Given the description of an element on the screen output the (x, y) to click on. 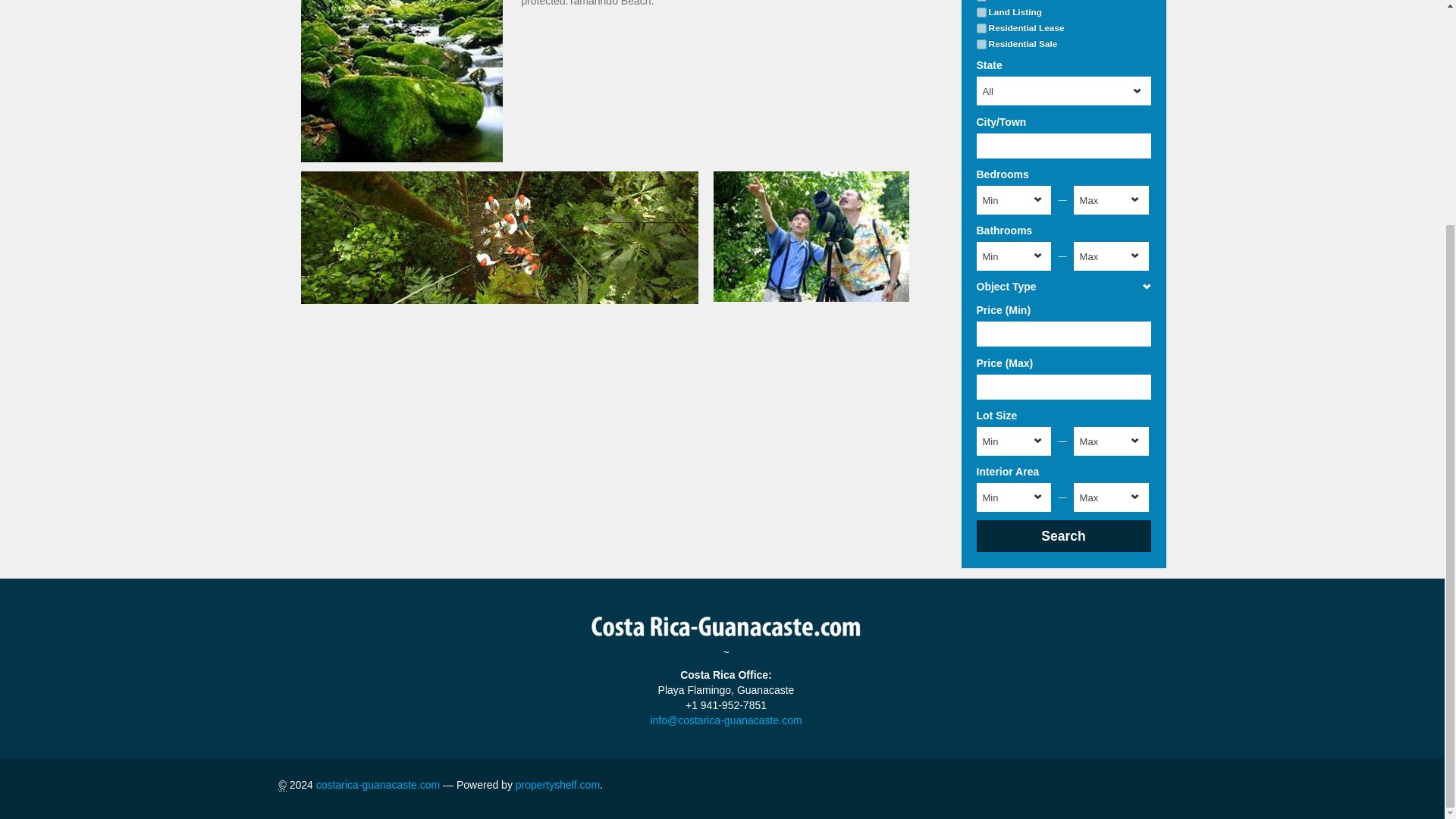
Search (1063, 536)
rl (981, 28)
rs (981, 44)
ll (981, 12)
